Given the description of an element on the screen output the (x, y) to click on. 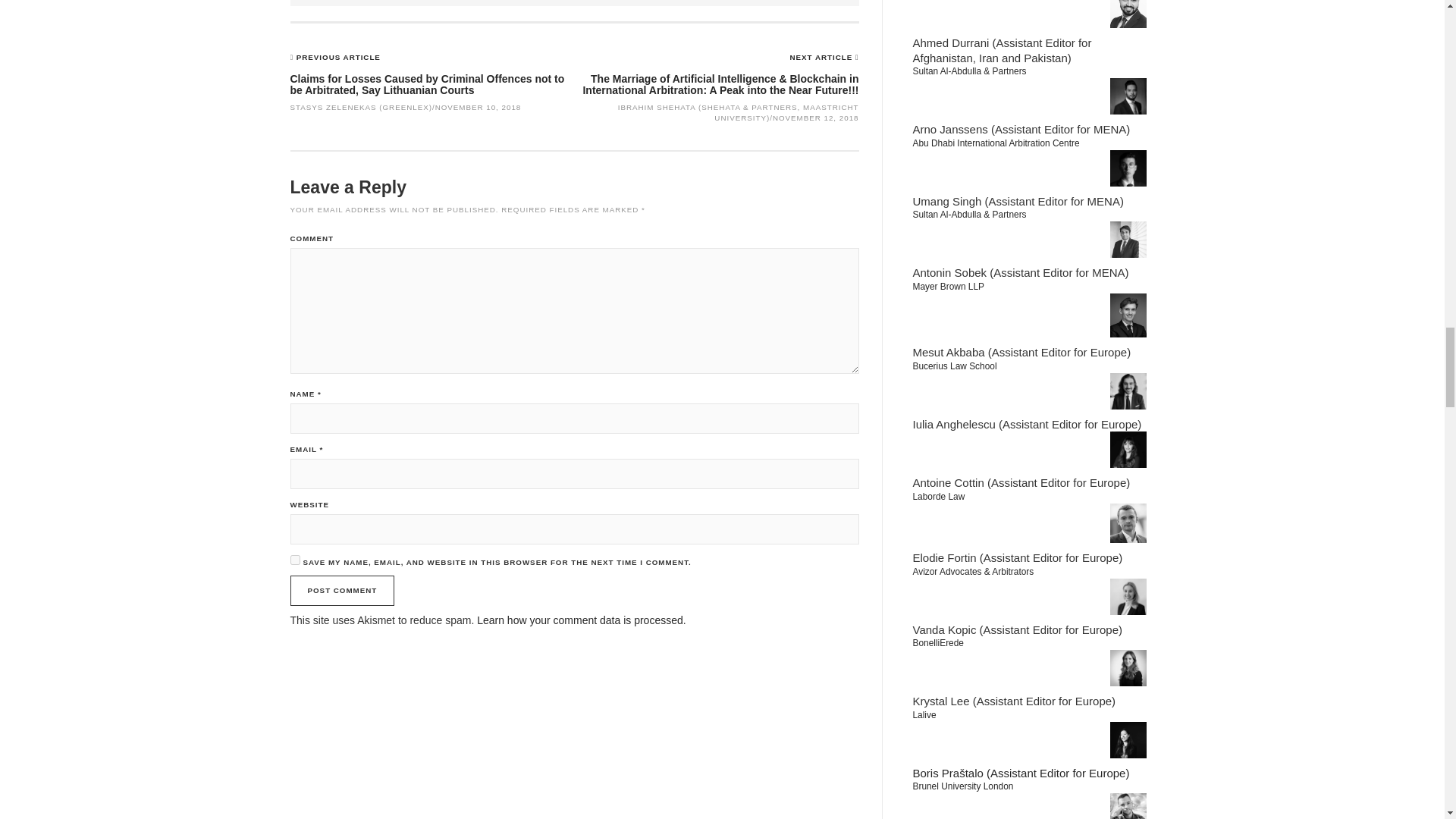
yes (294, 560)
NOVEMBER 12, 2018 (816, 117)
PREVIOUS ARTICLE (338, 57)
NEXT ARTICLE (823, 57)
IBRAHIM SHEHATA (656, 107)
Post Comment (341, 590)
